Given the description of an element on the screen output the (x, y) to click on. 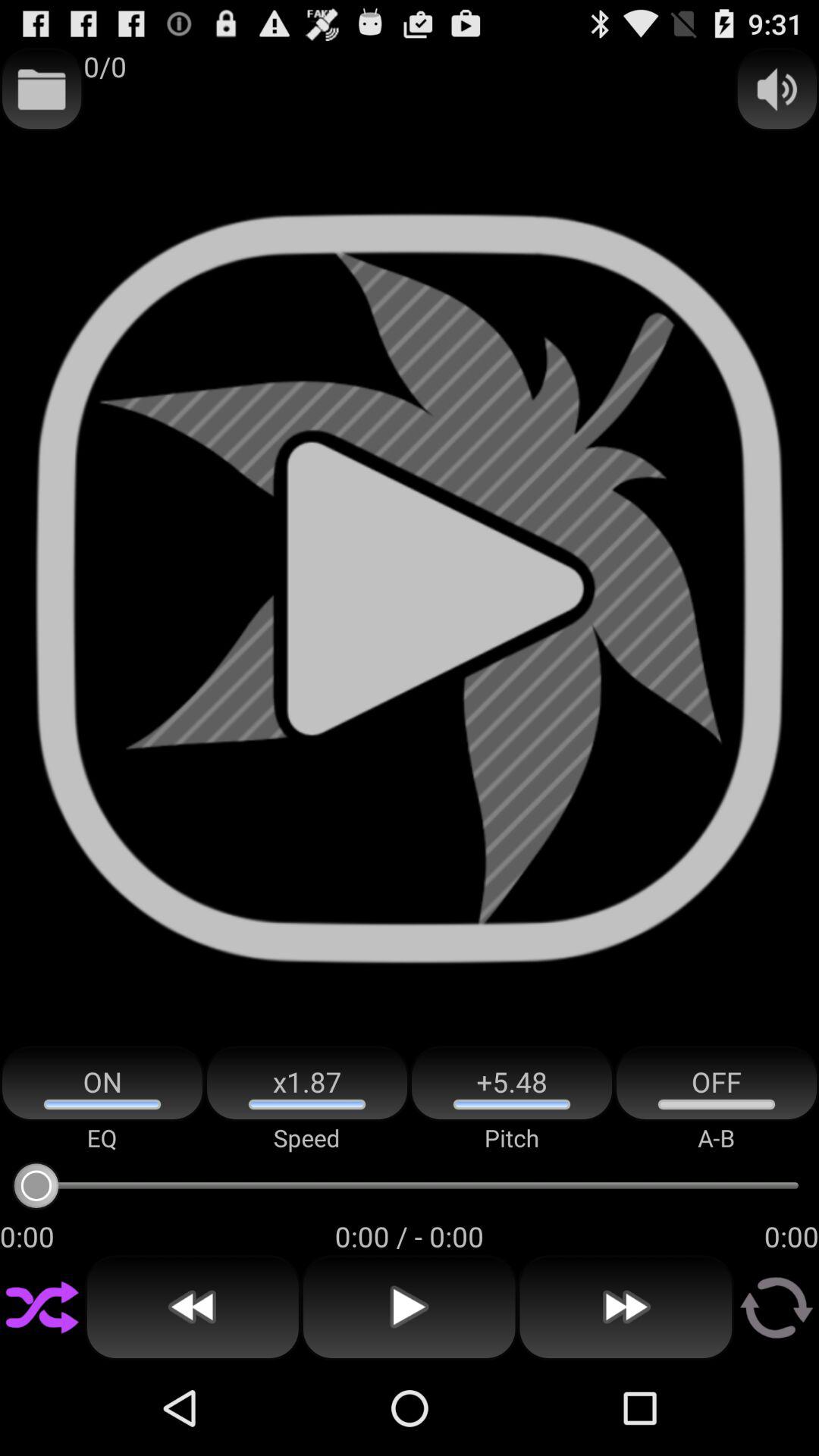
turn off item next to the x1.87 (511, 1083)
